Given the description of an element on the screen output the (x, y) to click on. 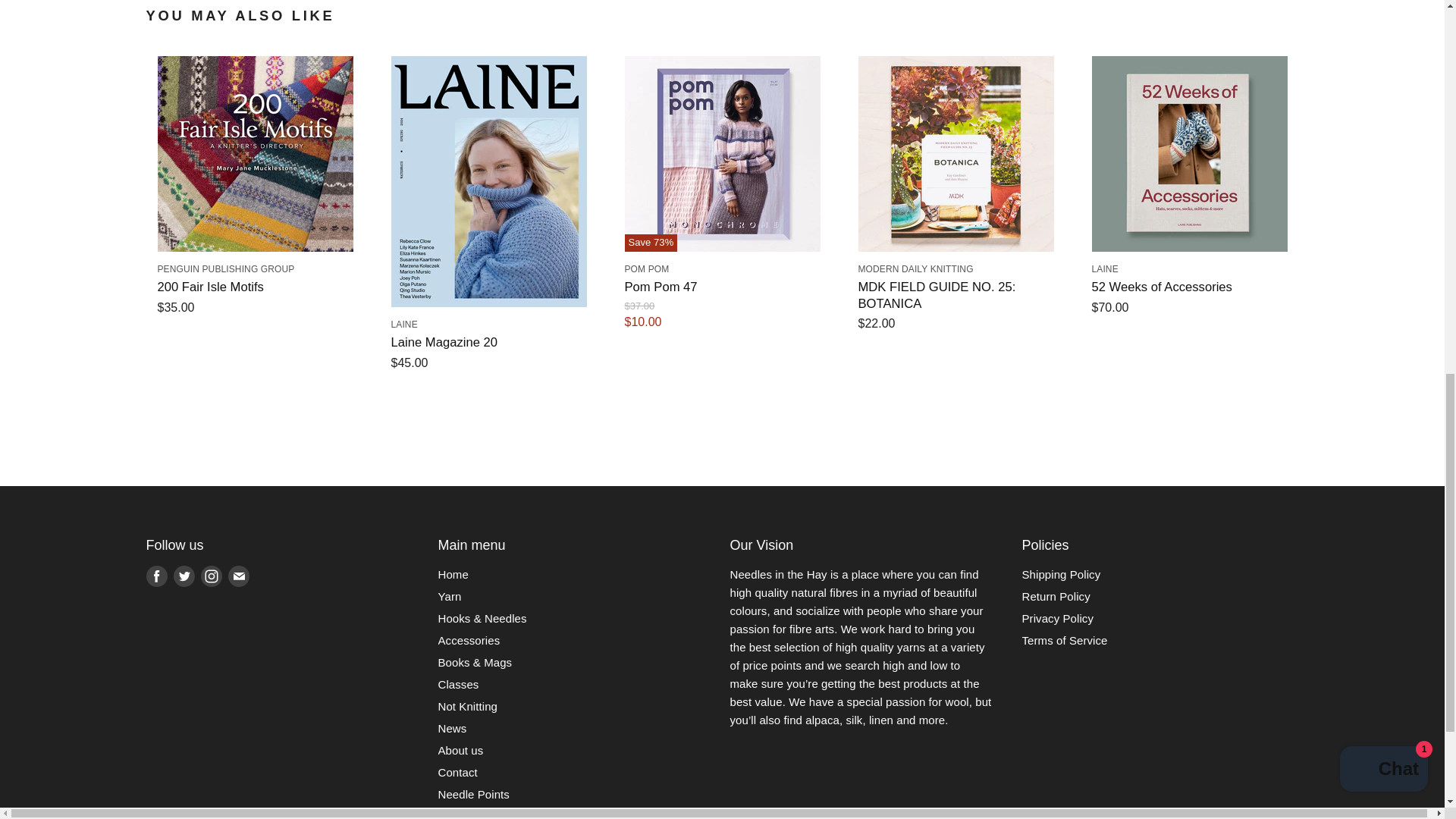
E-mail (237, 575)
Twitter (183, 575)
Facebook (156, 575)
Instagram (210, 575)
